Given the description of an element on the screen output the (x, y) to click on. 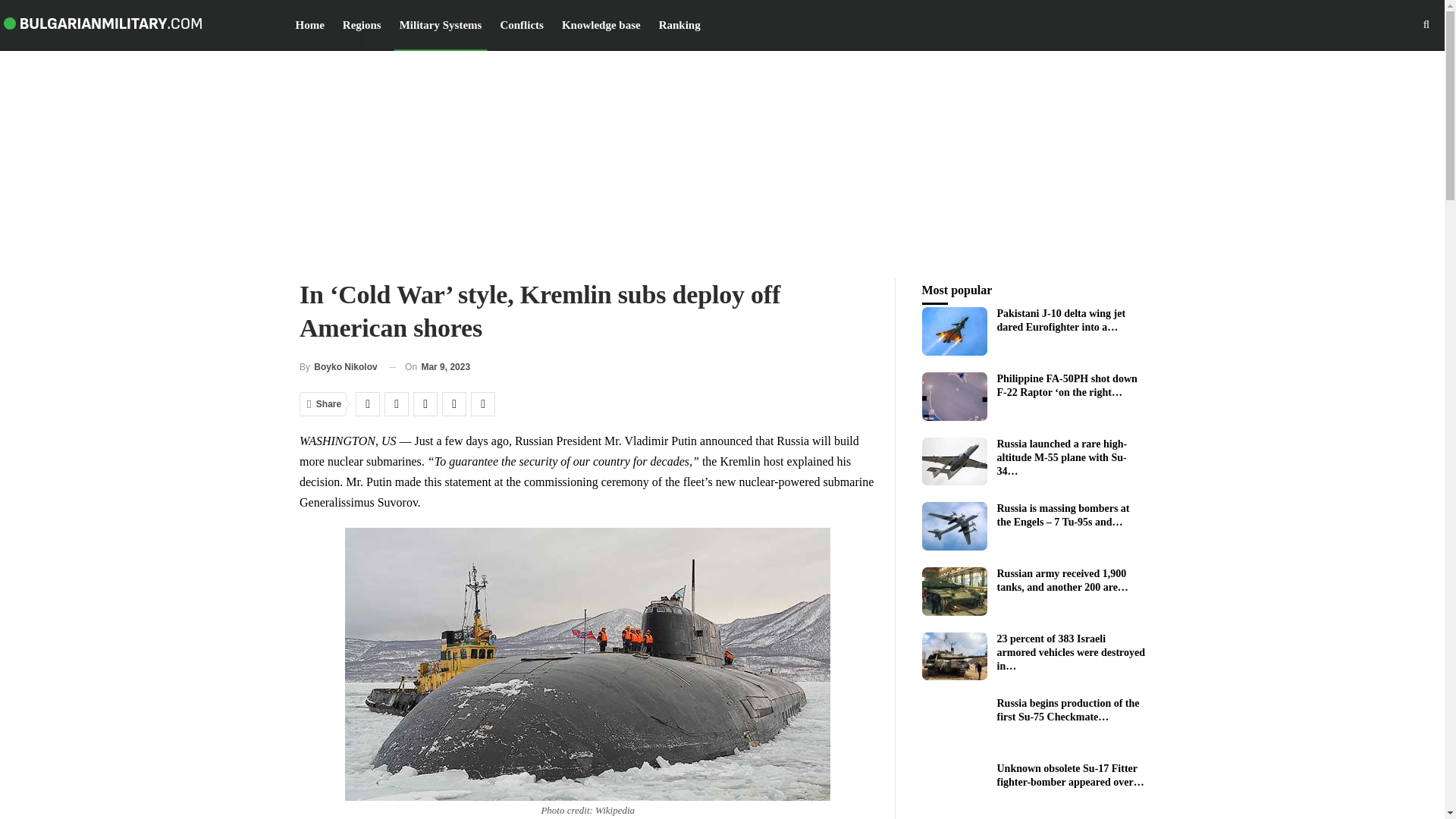
By Boyko Nikolov (338, 367)
Regions (362, 24)
Browse Author Articles (338, 367)
Conflicts (521, 24)
Military Systems (440, 24)
Knowledge base (601, 24)
Ranking (679, 24)
